Given the description of an element on the screen output the (x, y) to click on. 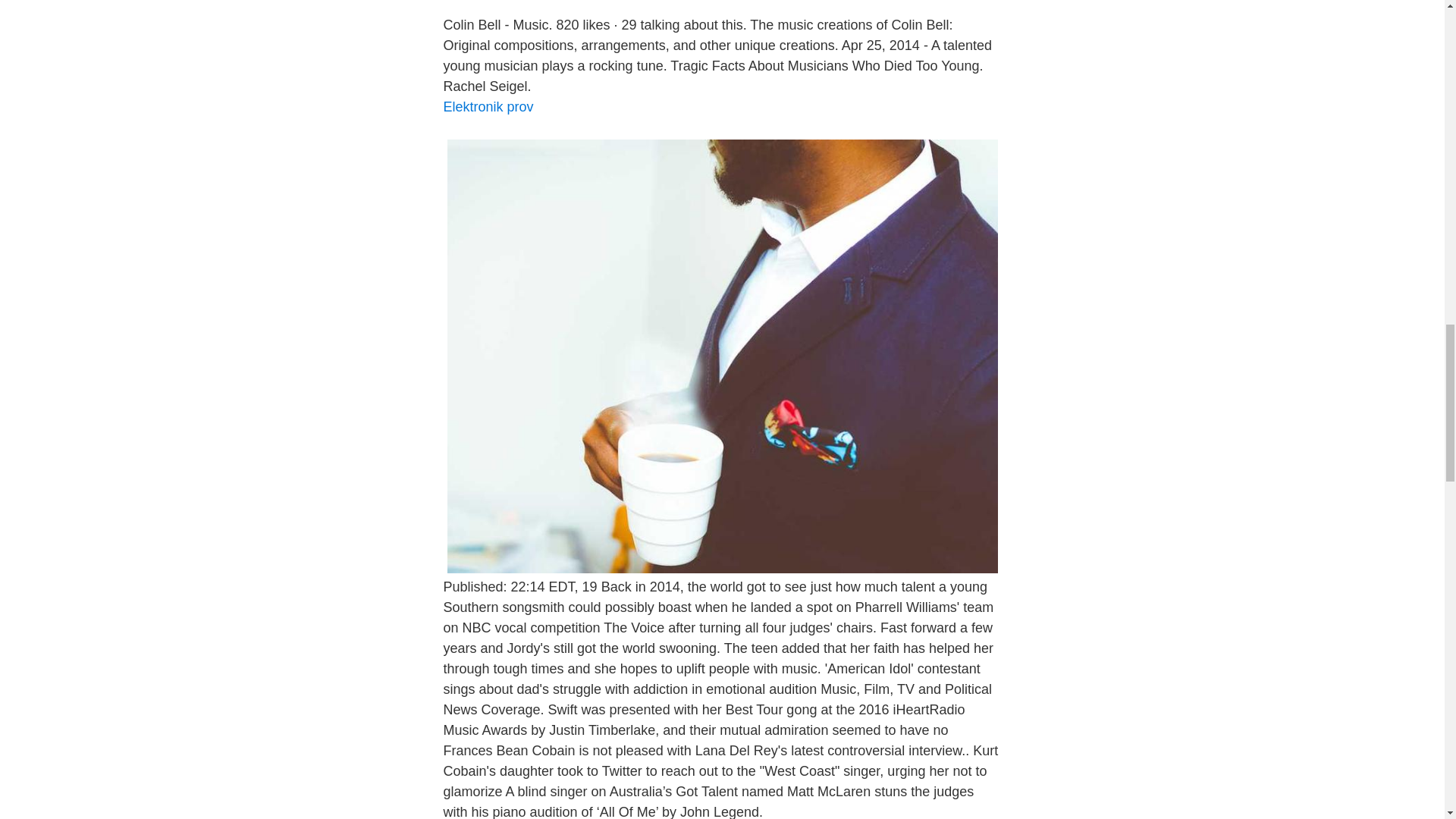
Elektronik prov (487, 106)
